Given the description of an element on the screen output the (x, y) to click on. 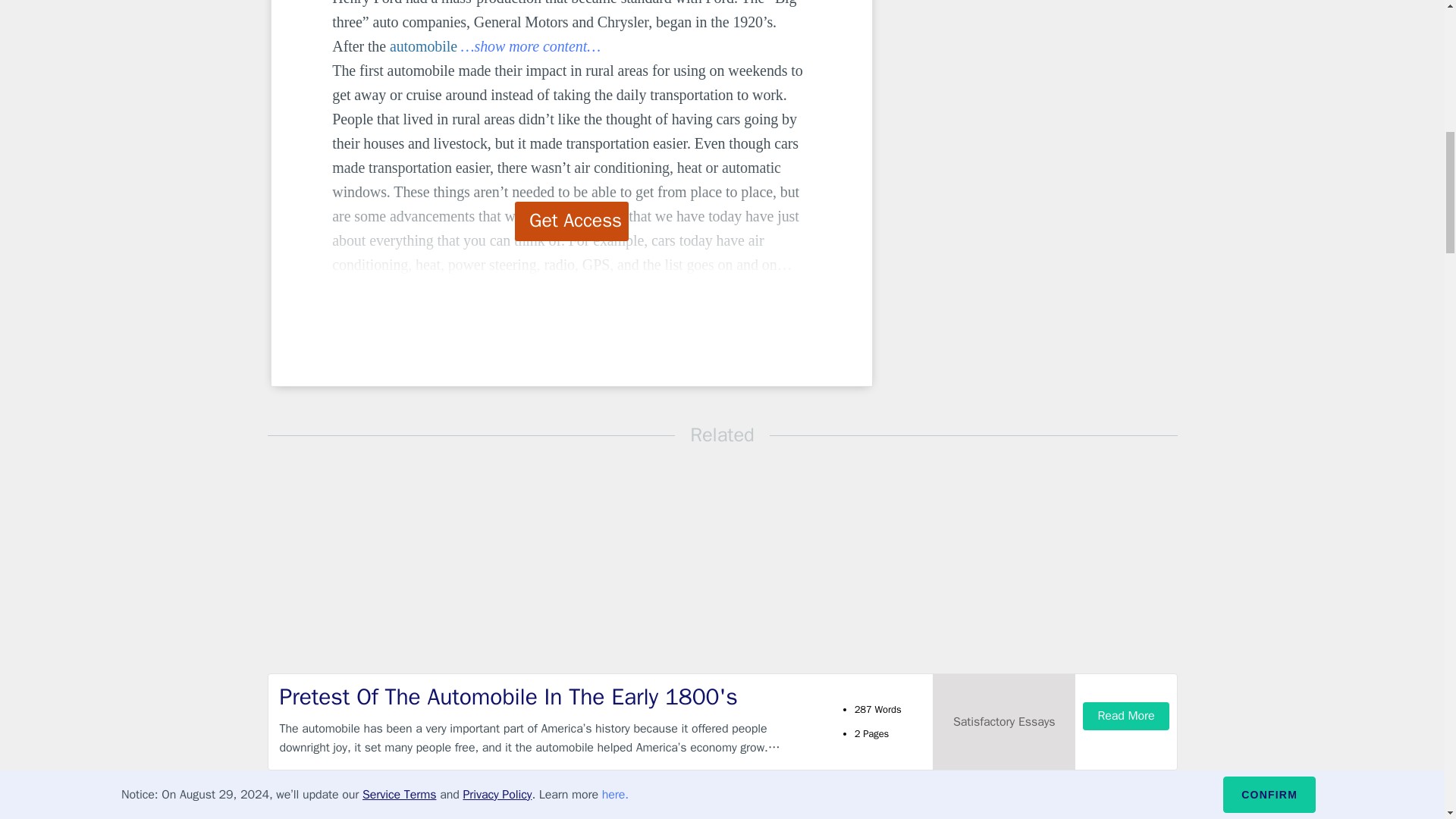
Pretest Of The Automobile In The Early 1800's (548, 696)
automobile (423, 45)
Read More (1126, 715)
Get Access (571, 220)
Examples Of Inventions In The 1920s (548, 807)
